Given the description of an element on the screen output the (x, y) to click on. 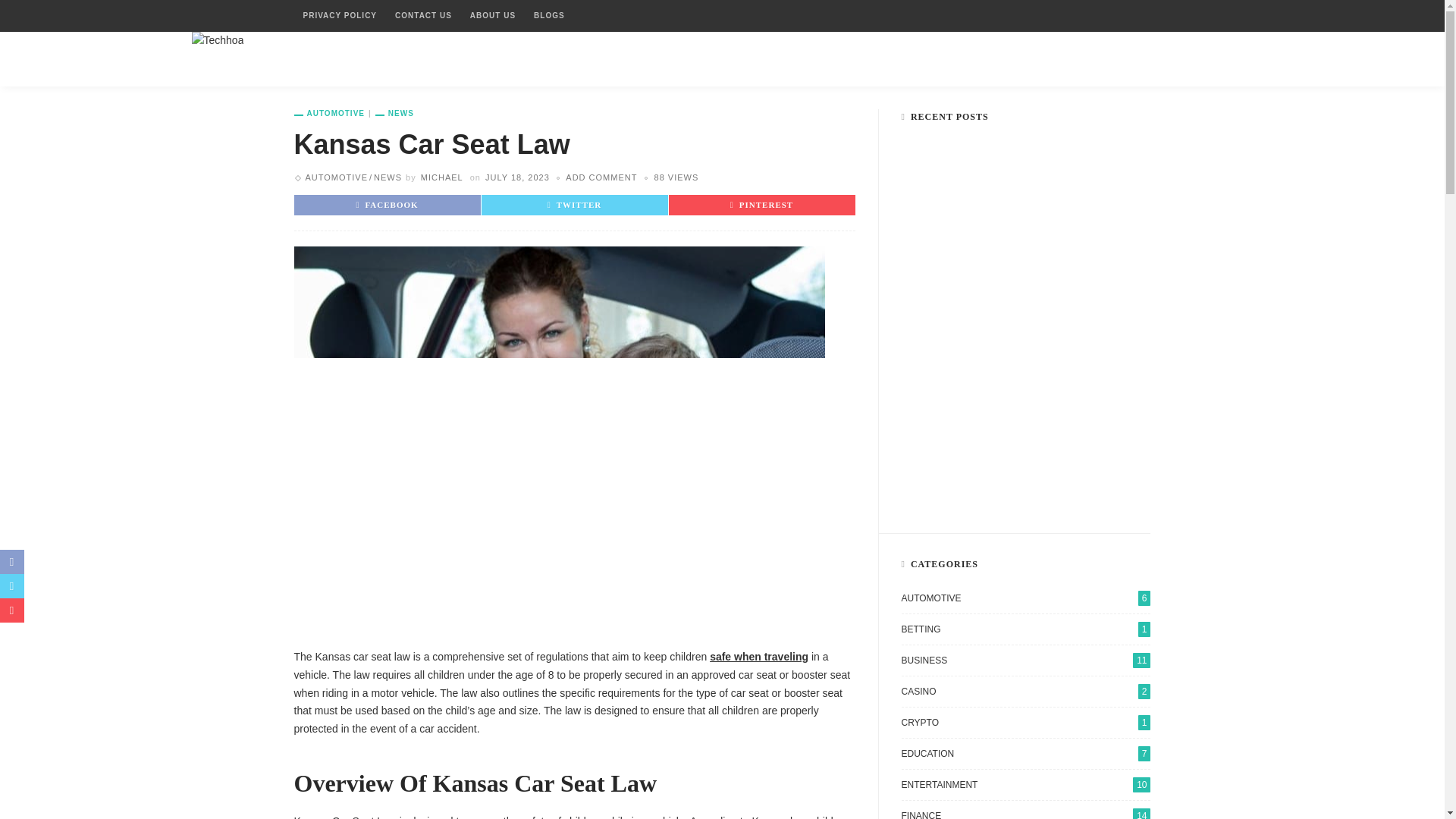
Automotive (334, 112)
ABOUT US (492, 15)
CONTACT US (423, 15)
menu (1232, 58)
Automotive (336, 176)
TECHNOLOGY (847, 58)
News (394, 112)
LIFESTYLE (946, 58)
BUSINESS (360, 58)
HOME (288, 58)
